Given the description of an element on the screen output the (x, y) to click on. 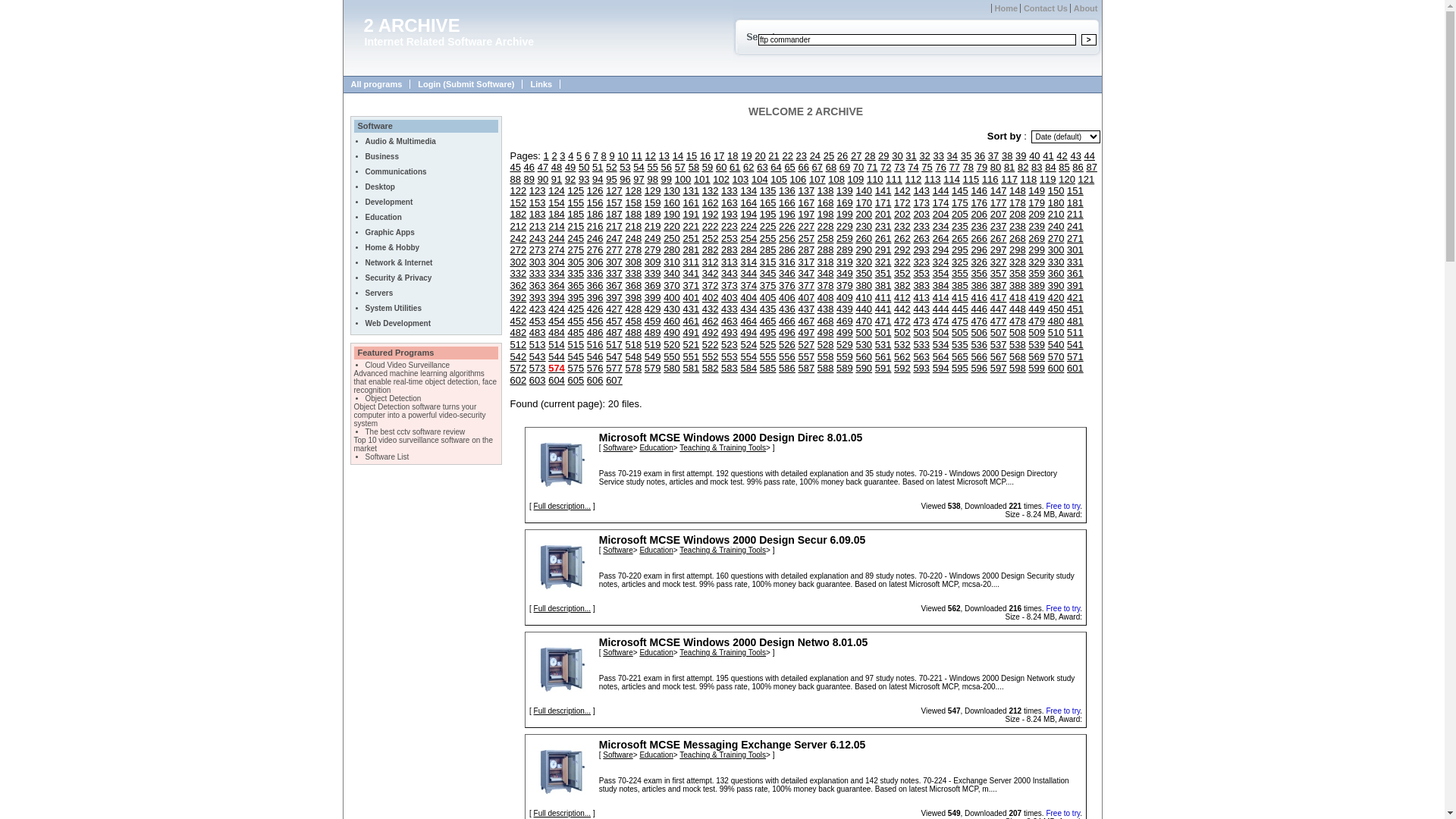
491 Element type: text (690, 332)
318 Element type: text (825, 261)
29 Element type: text (883, 155)
69 Element type: text (844, 166)
293 Element type: text (921, 249)
170 Element type: text (863, 202)
572 Element type: text (517, 367)
427 Element type: text (613, 308)
440 Element type: text (863, 308)
296 Element type: text (978, 249)
230 Element type: text (863, 226)
311 Element type: text (690, 261)
183 Element type: text (537, 213)
482 Element type: text (517, 332)
237 Element type: text (998, 226)
128 Element type: text (632, 190)
224 Element type: text (748, 226)
506 Element type: text (978, 332)
319 Element type: text (844, 261)
299 Element type: text (1036, 249)
536 Element type: text (978, 344)
264 Element type: text (940, 238)
94 Element type: text (597, 179)
385 Element type: text (959, 285)
445 Element type: text (959, 308)
581 Element type: text (690, 367)
409 Element type: text (844, 297)
510 Element type: text (1056, 332)
502 Element type: text (902, 332)
463 Element type: text (729, 320)
109 Element type: text (855, 179)
559 Element type: text (844, 356)
590 Element type: text (863, 367)
533 Element type: text (921, 344)
527 Element type: text (805, 344)
406 Element type: text (786, 297)
Education Element type: text (383, 217)
227 Element type: text (805, 226)
475 Element type: text (959, 320)
604 Element type: text (556, 379)
159 Element type: text (652, 202)
207 Element type: text (998, 213)
471 Element type: text (883, 320)
100 Element type: text (682, 179)
33 Element type: text (937, 155)
534 Element type: text (940, 344)
30 Element type: text (896, 155)
180 Element type: text (1056, 202)
141 Element type: text (883, 190)
408 Element type: text (825, 297)
266 Element type: text (978, 238)
337 Element type: text (613, 273)
38 Element type: text (1006, 155)
84 Element type: text (1049, 166)
355 Element type: text (959, 273)
Microsoft MCSE Windows 2000 Design Secur 6.09.05 Element type: text (732, 539)
290 Element type: text (863, 249)
396 Element type: text (594, 297)
504 Element type: text (940, 332)
599 Element type: text (1036, 367)
324 Element type: text (940, 261)
DownloadMicrosoft MCSE Windows 2000 Design Secur 6.09.05 Element type: hover (561, 566)
503 Element type: text (921, 332)
93 Element type: text (583, 179)
233 Element type: text (921, 226)
544 Element type: text (556, 356)
188 Element type: text (632, 213)
532 Element type: text (902, 344)
367 Element type: text (613, 285)
401 Element type: text (690, 297)
Contact Us Element type: text (1043, 7)
190 Element type: text (671, 213)
235 Element type: text (959, 226)
515 Element type: text (575, 344)
71 Element type: text (871, 166)
85 Element type: text (1063, 166)
353 Element type: text (921, 273)
179 Element type: text (1036, 202)
274 Element type: text (556, 249)
28 Element type: text (869, 155)
254 Element type: text (748, 238)
51 Element type: text (597, 166)
350 Element type: text (863, 273)
417 Element type: text (998, 297)
81 Element type: text (1009, 166)
453 Element type: text (537, 320)
564 Element type: text (940, 356)
22 Element type: text (786, 155)
356 Element type: text (978, 273)
Web Development Element type: text (398, 323)
253 Element type: text (729, 238)
Microsoft MCSE Messaging Exchange Server 6.12.05 Element type: text (732, 744)
320 Element type: text (863, 261)
452 Element type: text (517, 320)
203 Element type: text (921, 213)
250 Element type: text (671, 238)
36 Element type: text (979, 155)
107 Element type: text (817, 179)
422 Element type: text (517, 308)
174 Element type: text (940, 202)
Business Element type: text (381, 156)
145 Element type: text (959, 190)
539 Element type: text (1036, 344)
41 Element type: text (1047, 155)
531 Element type: text (883, 344)
95 Element type: text (610, 179)
413 Element type: text (921, 297)
326 Element type: text (978, 261)
Teaching & Training Tools Element type: text (722, 754)
187 Element type: text (613, 213)
378 Element type: text (825, 285)
283 Element type: text (729, 249)
456 Element type: text (594, 320)
Education Element type: text (655, 550)
241 Element type: text (1074, 226)
327 Element type: text (998, 261)
65 Element type: text (789, 166)
Audio & Multimedia Element type: text (400, 141)
469 Element type: text (844, 320)
535 Element type: text (959, 344)
Software Element type: text (617, 754)
231 Element type: text (883, 226)
484 Element type: text (556, 332)
245 Element type: text (575, 238)
58 Element type: text (693, 166)
400 Element type: text (671, 297)
421 Element type: text (1074, 297)
103 Element type: text (740, 179)
575 Element type: text (575, 367)
576 Element type: text (594, 367)
473 Element type: text (921, 320)
270 Element type: text (1056, 238)
50 Element type: text (583, 166)
All programs Element type: text (376, 83)
558 Element type: text (825, 356)
277 Element type: text (613, 249)
23 Element type: text (801, 155)
508 Element type: text (1017, 332)
238 Element type: text (1017, 226)
59 Element type: text (707, 166)
523 Element type: text (729, 344)
307 Element type: text (613, 261)
192 Element type: text (710, 213)
194 Element type: text (748, 213)
606 Element type: text (594, 379)
560 Element type: text (863, 356)
99 Element type: text (666, 179)
310 Element type: text (671, 261)
433 Element type: text (729, 308)
541 Element type: text (1074, 344)
414 Element type: text (940, 297)
289 Element type: text (844, 249)
260 Element type: text (863, 238)
150 Element type: text (1056, 190)
91 Element type: text (556, 179)
303 Element type: text (537, 261)
499 Element type: text (844, 332)
87 Element type: text (1090, 166)
129 Element type: text (652, 190)
193 Element type: text (729, 213)
566 Element type: text (978, 356)
332 Element type: text (517, 273)
498 Element type: text (825, 332)
370 Element type: text (671, 285)
434 Element type: text (748, 308)
470 Element type: text (863, 320)
295 Element type: text (959, 249)
102 Element type: text (720, 179)
244 Element type: text (556, 238)
Graphic Apps Element type: text (389, 232)
438 Element type: text (825, 308)
3 Element type: text (561, 155)
1 Element type: text (546, 155)
387 Element type: text (998, 285)
272 Element type: text (517, 249)
242 Element type: text (517, 238)
340 Element type: text (671, 273)
476 Element type: text (978, 320)
258 Element type: text (825, 238)
605 Element type: text (575, 379)
419 Element type: text (1036, 297)
600 Element type: text (1056, 367)
4 Element type: text (570, 155)
496 Element type: text (786, 332)
579 Element type: text (652, 367)
480 Element type: text (1056, 320)
14 Element type: text (677, 155)
263 Element type: text (921, 238)
377 Element type: text (805, 285)
306 Element type: text (594, 261)
334 Element type: text (556, 273)
164 Element type: text (748, 202)
152 Element type: text (517, 202)
435 Element type: text (767, 308)
517 Element type: text (613, 344)
363 Element type: text (537, 285)
Object Detection Element type: text (393, 398)
592 Element type: text (902, 367)
17 Element type: text (718, 155)
538 Element type: text (1017, 344)
255 Element type: text (767, 238)
215 Element type: text (575, 226)
354 Element type: text (940, 273)
556 Element type: text (786, 356)
125 Element type: text (575, 190)
114 Element type: text (951, 179)
472 Element type: text (902, 320)
197 Element type: text (805, 213)
485 Element type: text (575, 332)
204 Element type: text (940, 213)
54 Element type: text (638, 166)
248 Element type: text (632, 238)
171 Element type: text (883, 202)
343 Element type: text (729, 273)
457 Element type: text (613, 320)
580 Element type: text (671, 367)
477 Element type: text (998, 320)
492 Element type: text (710, 332)
20 Element type: text (759, 155)
157 Element type: text (613, 202)
123 Element type: text (537, 190)
578 Element type: text (632, 367)
509 Element type: text (1036, 332)
412 Element type: text (902, 297)
92 Element type: text (569, 179)
131 Element type: text (690, 190)
448 Element type: text (1017, 308)
501 Element type: text (883, 332)
317 Element type: text (805, 261)
530 Element type: text (863, 344)
151 Element type: text (1074, 190)
511 Element type: text (1074, 332)
488 Element type: text (632, 332)
213 Element type: text (537, 226)
168 Element type: text (825, 202)
279 Element type: text (652, 249)
225 Element type: text (767, 226)
198 Element type: text (825, 213)
292 Element type: text (902, 249)
459 Element type: text (652, 320)
346 Element type: text (786, 273)
System Utilities Element type: text (393, 308)
598 Element type: text (1017, 367)
577 Element type: text (613, 367)
507 Element type: text (998, 332)
562 Element type: text (902, 356)
373 Element type: text (729, 285)
Full description... Element type: text (562, 608)
199 Element type: text (844, 213)
261 Element type: text (883, 238)
66 Element type: text (802, 166)
6 Element type: text (586, 155)
467 Element type: text (805, 320)
234 Element type: text (940, 226)
Software Element type: text (617, 652)
96 Element type: text (624, 179)
418 Element type: text (1017, 297)
287 Element type: text (805, 249)
196 Element type: text (786, 213)
384 Element type: text (940, 285)
165 Element type: text (767, 202)
132 Element type: text (710, 190)
101 Element type: text (701, 179)
256 Element type: text (786, 238)
Desktop Element type: text (380, 186)
135 Element type: text (767, 190)
191 Element type: text (690, 213)
21 Element type: text (773, 155)
202 Element type: text (902, 213)
586 Element type: text (786, 367)
138 Element type: text (825, 190)
521 Element type: text (690, 344)
351 Element type: text (883, 273)
376 Element type: text (786, 285)
158 Element type: text (632, 202)
226 Element type: text (786, 226)
285 Element type: text (767, 249)
105 Element type: text (778, 179)
136 Element type: text (786, 190)
574 Element type: text (556, 367)
395 Element type: text (575, 297)
525 Element type: text (767, 344)
304 Element type: text (556, 261)
460 Element type: text (671, 320)
545 Element type: text (575, 356)
19 Element type: text (745, 155)
379 Element type: text (844, 285)
380 Element type: text (863, 285)
280 Element type: text (671, 249)
49 Element type: text (569, 166)
160 Element type: text (671, 202)
330 Element type: text (1056, 261)
39 Element type: text (1020, 155)
5 Element type: text (578, 155)
156 Element type: text (594, 202)
52 Element type: text (610, 166)
582 Element type: text (710, 367)
271 Element type: text (1074, 238)
The best cctv software review Element type: text (415, 431)
584 Element type: text (748, 367)
173 Element type: text (921, 202)
229 Element type: text (844, 226)
424 Element type: text (556, 308)
478 Element type: text (1017, 320)
595 Element type: text (959, 367)
329 Element type: text (1036, 261)
200 Element type: text (863, 213)
119 Element type: text (1047, 179)
Communications Element type: text (395, 171)
Teaching & Training Tools Element type: text (722, 550)
89 Element type: text (529, 179)
Microsoft MCSE Windows 2000 Design Netwo 8.01.05 Element type: text (733, 642)
70 Element type: text (858, 166)
27 Element type: text (855, 155)
45 Element type: text (514, 166)
118 Element type: text (1028, 179)
268 Element type: text (1017, 238)
236 Element type: text (978, 226)
53 Element type: text (624, 166)
588 Element type: text (825, 367)
516 Element type: text (594, 344)
364 Element type: text (556, 285)
239 Element type: text (1036, 226)
140 Element type: text (863, 190)
550 Element type: text (671, 356)
72 Element type: text (885, 166)
181 Element type: text (1074, 202)
607 Element type: text (613, 379)
483 Element type: text (537, 332)
495 Element type: text (767, 332)
428 Element type: text (632, 308)
321 Element type: text (883, 261)
Development Element type: text (389, 201)
568 Element type: text (1017, 356)
342 Element type: text (710, 273)
149 Element type: text (1036, 190)
154 Element type: text (556, 202)
288 Element type: text (825, 249)
16 Element type: text (704, 155)
122 Element type: text (517, 190)
552 Element type: text (710, 356)
348 Element type: text (825, 273)
Software List Element type: text (387, 456)
223 Element type: text (729, 226)
372 Element type: text (710, 285)
186 Element type: text (594, 213)
31 Element type: text (910, 155)
526 Element type: text (786, 344)
63 Element type: text (761, 166)
185 Element type: text (575, 213)
489 Element type: text (652, 332)
247 Element type: text (613, 238)
569 Element type: text (1036, 356)
121 Element type: text (1086, 179)
201 Element type: text (883, 213)
573 Element type: text (537, 367)
391 Element type: text (1074, 285)
37 Element type: text (993, 155)
243 Element type: text (537, 238)
10 Element type: text (622, 155)
316 Element type: text (786, 261)
547 Element type: text (613, 356)
439 Element type: text (844, 308)
Home Element type: text (1004, 7)
130 Element type: text (671, 190)
437 Element type: text (805, 308)
591 Element type: text (883, 367)
397 Element type: text (613, 297)
522 Element type: text (710, 344)
368 Element type: text (632, 285)
486 Element type: text (594, 332)
389 Element type: text (1036, 285)
40 Element type: text (1034, 155)
446 Element type: text (978, 308)
425 Element type: text (575, 308)
42 Element type: text (1061, 155)
211 Element type: text (1074, 213)
172 Element type: text (902, 202)
67 Element type: text (817, 166)
286 Element type: text (786, 249)
76 Element type: text (940, 166)
240 Element type: text (1056, 226)
497 Element type: text (805, 332)
221 Element type: text (690, 226)
415 Element type: text (959, 297)
153 Element type: text (537, 202)
383 Element type: text (921, 285)
392 Element type: text (517, 297)
32 Element type: text (924, 155)
543 Element type: text (537, 356)
551 Element type: text (690, 356)
500 Element type: text (863, 332)
450 Element type: text (1056, 308)
305 Element type: text (575, 261)
117 Element type: text (1009, 179)
537 Element type: text (998, 344)
398 Element type: text (632, 297)
349 Element type: text (844, 273)
403 Element type: text (729, 297)
571 Element type: text (1074, 356)
371 Element type: text (690, 285)
Software Element type: text (617, 550)
549 Element type: text (652, 356)
218 Element type: text (632, 226)
24 Element type: text (814, 155)
529 Element type: text (844, 344)
DownloadMicrosoft MCSE Windows 2000 Design Netwo 8.01.05 Element type: hover (561, 668)
269 Element type: text (1036, 238)
561 Element type: text (883, 356)
73 Element type: text (899, 166)
553 Element type: text (729, 356)
451 Element type: text (1074, 308)
308 Element type: text (632, 261)
546 Element type: text (594, 356)
447 Element type: text (998, 308)
583 Element type: text (729, 367)
603 Element type: text (537, 379)
429 Element type: text (652, 308)
302 Element type: text (517, 261)
436 Element type: text (786, 308)
388 Element type: text (1017, 285)
386 Element type: text (978, 285)
195 Element type: text (767, 213)
518 Element type: text (632, 344)
393 Element type: text (537, 297)
420 Element type: text (1056, 297)
126 Element type: text (594, 190)
314 Element type: text (748, 261)
589 Element type: text (844, 367)
601 Element type: text (1074, 367)
Links Element type: text (541, 83)
34 Element type: text (952, 155)
554 Element type: text (748, 356)
127 Element type: text (613, 190)
474 Element type: text (940, 320)
78 Element type: text (968, 166)
468 Element type: text (825, 320)
Security & Privacy Element type: text (398, 277)
18 Element type: text (732, 155)
331 Element type: text (1074, 261)
514 Element type: text (556, 344)
487 Element type: text (613, 332)
593 Element type: text (921, 367)
124 Element type: text (556, 190)
374 Element type: text (748, 285)
56 Element type: text (666, 166)
465 Element type: text (767, 320)
441 Element type: text (883, 308)
442 Element type: text (902, 308)
11 Element type: text (635, 155)
528 Element type: text (825, 344)
155 Element type: text (575, 202)
339 Element type: text (652, 273)
313 Element type: text (729, 261)
Full description... Element type: text (562, 710)
148 Element type: text (1017, 190)
144 Element type: text (940, 190)
333 Element type: text (537, 273)
About Element type: text (1084, 7)
137 Element type: text (805, 190)
407 Element type: text (805, 297)
585 Element type: text (767, 367)
602 Element type: text (517, 379)
276 Element type: text (594, 249)
365 Element type: text (575, 285)
490 Element type: text (671, 332)
> Element type: text (1088, 39)
182 Element type: text (517, 213)
359 Element type: text (1036, 273)
309 Element type: text (652, 261)
249 Element type: text (652, 238)
Full description... Element type: text (562, 506)
411 Element type: text (883, 297)
Education Element type: text (655, 652)
570 Element type: text (1056, 356)
88 Element type: text (514, 179)
298 Element type: text (1017, 249)
282 Element type: text (710, 249)
86 Element type: text (1077, 166)
217 Element type: text (613, 226)
DownloadMicrosoft MCSE Windows 2000 Design Direc 8.01.05 Element type: hover (561, 463)
139 Element type: text (844, 190)
120 Element type: text (1066, 179)
62 Element type: text (748, 166)
297 Element type: text (998, 249)
46 Element type: text (529, 166)
345 Element type: text (767, 273)
Teaching & Training Tools Element type: text (722, 652)
262 Element type: text (902, 238)
430 Element type: text (671, 308)
341 Element type: text (690, 273)
454 Element type: text (556, 320)
Microsoft MCSE Windows 2000 Design Direc 8.01.05 Element type: text (730, 437)
55 Element type: text (651, 166)
362 Element type: text (517, 285)
449 Element type: text (1036, 308)
513 Element type: text (537, 344)
416 Element type: text (978, 297)
106 Element type: text (798, 179)
143 Element type: text (921, 190)
48 Element type: text (556, 166)
265 Element type: text (959, 238)
405 Element type: text (767, 297)
567 Element type: text (998, 356)
394 Element type: text (556, 297)
338 Element type: text (632, 273)
177 Element type: text (998, 202)
68 Element type: text (830, 166)
184 Element type: text (556, 213)
8 Element type: text (603, 155)
281 Element type: text (690, 249)
399 Element type: text (652, 297)
15 Element type: text (691, 155)
47 Element type: text (542, 166)
Full description... Element type: text (562, 813)
83 Element type: text (1036, 166)
512 Element type: text (517, 344)
479 Element type: text (1036, 320)
35 Element type: text (965, 155)
82 Element type: text (1022, 166)
291 Element type: text (883, 249)
461 Element type: text (690, 320)
246 Element type: text (594, 238)
382 Element type: text (902, 285)
284 Element type: text (748, 249)
520 Element type: text (671, 344)
336 Element type: text (594, 273)
300 Element type: text (1056, 249)
205 Element type: text (959, 213)
361 Element type: text (1074, 273)
596 Element type: text (978, 367)
Cloud Video Surveillance Element type: text (407, 364)
Education Element type: text (655, 754)
147 Element type: text (998, 190)
176 Element type: text (978, 202)
57 Element type: text (679, 166)
133 Element type: text (729, 190)
347 Element type: text (805, 273)
232 Element type: text (902, 226)
312 Element type: text (710, 261)
466 Element type: text (786, 320)
323 Element type: text (921, 261)
275 Element type: text (575, 249)
423 Element type: text (537, 308)
594 Element type: text (940, 367)
563 Element type: text (921, 356)
98 Element type: text (651, 179)
222 Element type: text (710, 226)
208 Element type: text (1017, 213)
366 Element type: text (594, 285)
597 Element type: text (998, 367)
251 Element type: text (690, 238)
74 Element type: text (912, 166)
112 Element type: text (913, 179)
Servers Element type: text (379, 292)
142 Element type: text (902, 190)
426 Element type: text (594, 308)
166 Element type: text (786, 202)
64 Element type: text (775, 166)
455 Element type: text (575, 320)
252 Element type: text (710, 238)
163 Element type: text (729, 202)
111 Element type: text (893, 179)
61 Element type: text (734, 166)
DownloadMicrosoft MCSE Messaging Exchange Server 6.12.05 Element type: hover (561, 770)
25 Element type: text (828, 155)
565 Element type: text (959, 356)
301 Element type: text (1074, 249)
80 Element type: text (995, 166)
328 Element type: text (1017, 261)
493 Element type: text (729, 332)
481 Element type: text (1074, 320)
13 Element type: text (663, 155)
410 Element type: text (863, 297)
267 Element type: text (998, 238)
524 Element type: text (748, 344)
375 Element type: text (767, 285)
178 Element type: text (1017, 202)
44 Element type: text (1089, 155)
210 Element type: text (1056, 213)
113 Element type: text (932, 179)
77 Element type: text (954, 166)
79 Element type: text (981, 166)
214 Element type: text (556, 226)
97 Element type: text (638, 179)
557 Element type: text (805, 356)
212 Element type: text (517, 226)
162 Element type: text (710, 202)
Home & Hobby Element type: text (392, 247)
169 Element type: text (844, 202)
219 Element type: text (652, 226)
60 Element type: text (720, 166)
Teaching & Training Tools Element type: text (722, 447)
464 Element type: text (748, 320)
402 Element type: text (710, 297)
115 Element type: text (971, 179)
108 Element type: text (836, 179)
322 Element type: text (902, 261)
358 Element type: text (1017, 273)
357 Element type: text (998, 273)
26 Element type: text (842, 155)
404 Element type: text (748, 297)
9 Element type: text (611, 155)
12 Element type: text (650, 155)
432 Element type: text (710, 308)
381 Element type: text (883, 285)
505 Element type: text (959, 332)
458 Element type: text (632, 320)
116 Element type: text (990, 179)
431 Element type: text (690, 308)
444 Element type: text (940, 308)
189 Element type: text (652, 213)
175 Element type: text (959, 202)
335 Element type: text (575, 273)
7 Element type: text (595, 155)
278 Element type: text (632, 249)
209 Element type: text (1036, 213)
Network & Internet Element type: text (399, 262)
Software Element type: text (617, 447)
257 Element type: text (805, 238)
43 Element type: text (1075, 155)
Login (Submit Software) Element type: text (466, 83)
294 Element type: text (940, 249)
273 Element type: text (537, 249)
587 Element type: text (805, 367)
110 Element type: text (874, 179)
220 Element type: text (671, 226)
2 Element type: text (553, 155)
146 Element type: text (978, 190)
206 Element type: text (978, 213)
540 Element type: text (1056, 344)
228 Element type: text (825, 226)
494 Element type: text (748, 332)
443 Element type: text (921, 308)
325 Element type: text (959, 261)
167 Element type: text (805, 202)
104 Element type: text (759, 179)
75 Element type: text (926, 166)
Education Element type: text (655, 447)
259 Element type: text (844, 238)
369 Element type: text (652, 285)
315 Element type: text (767, 261)
344 Element type: text (748, 273)
352 Element type: text (902, 273)
519 Element type: text (652, 344)
216 Element type: text (594, 226)
360 Element type: text (1056, 273)
555 Element type: text (767, 356)
161 Element type: text (690, 202)
134 Element type: text (748, 190)
542 Element type: text (517, 356)
390 Element type: text (1056, 285)
548 Element type: text (632, 356)
462 Element type: text (710, 320)
90 Element type: text (542, 179)
